Given the description of an element on the screen output the (x, y) to click on. 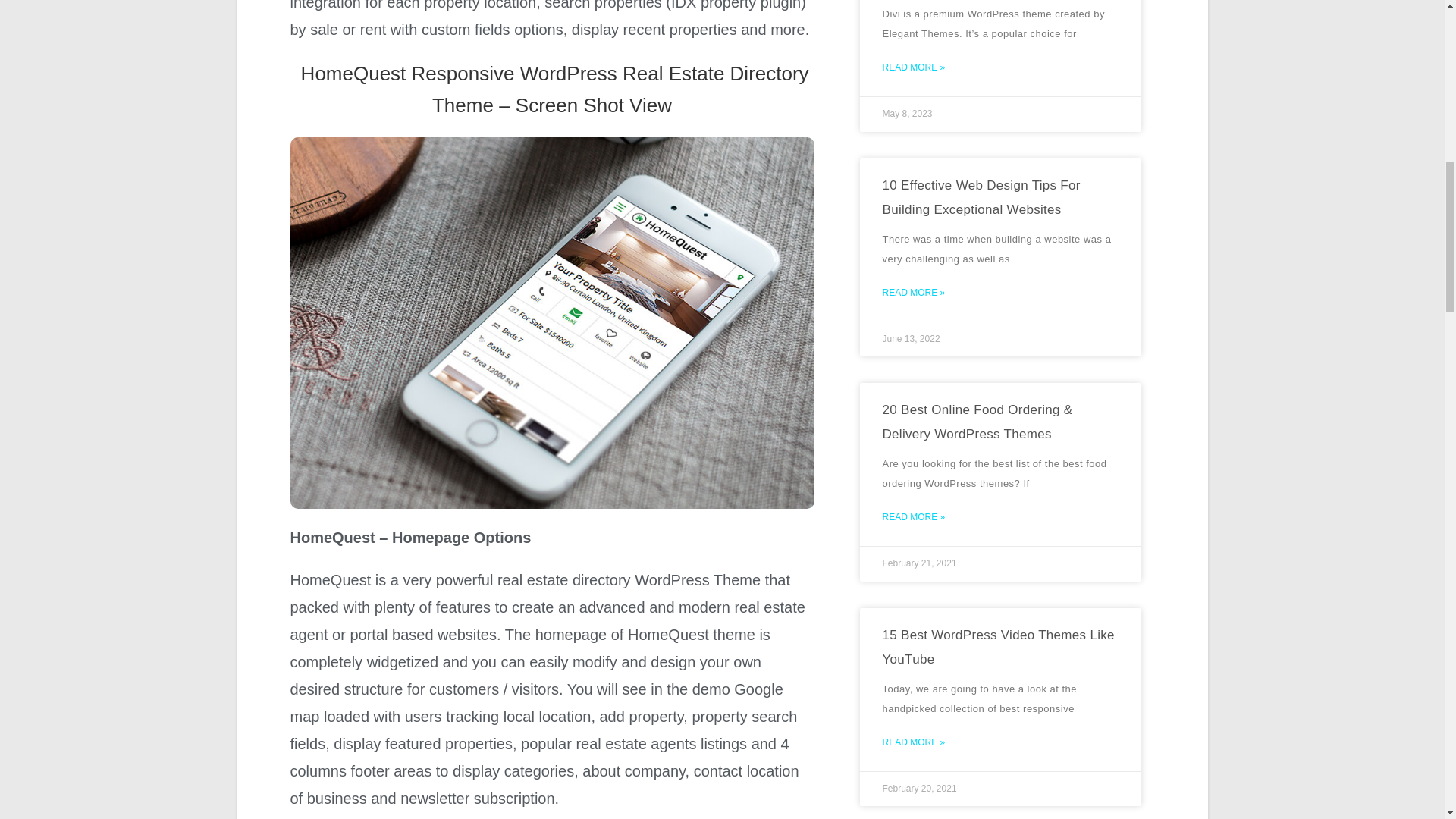
15 Best WordPress Video Themes Like YouTube (998, 647)
